Given the description of an element on the screen output the (x, y) to click on. 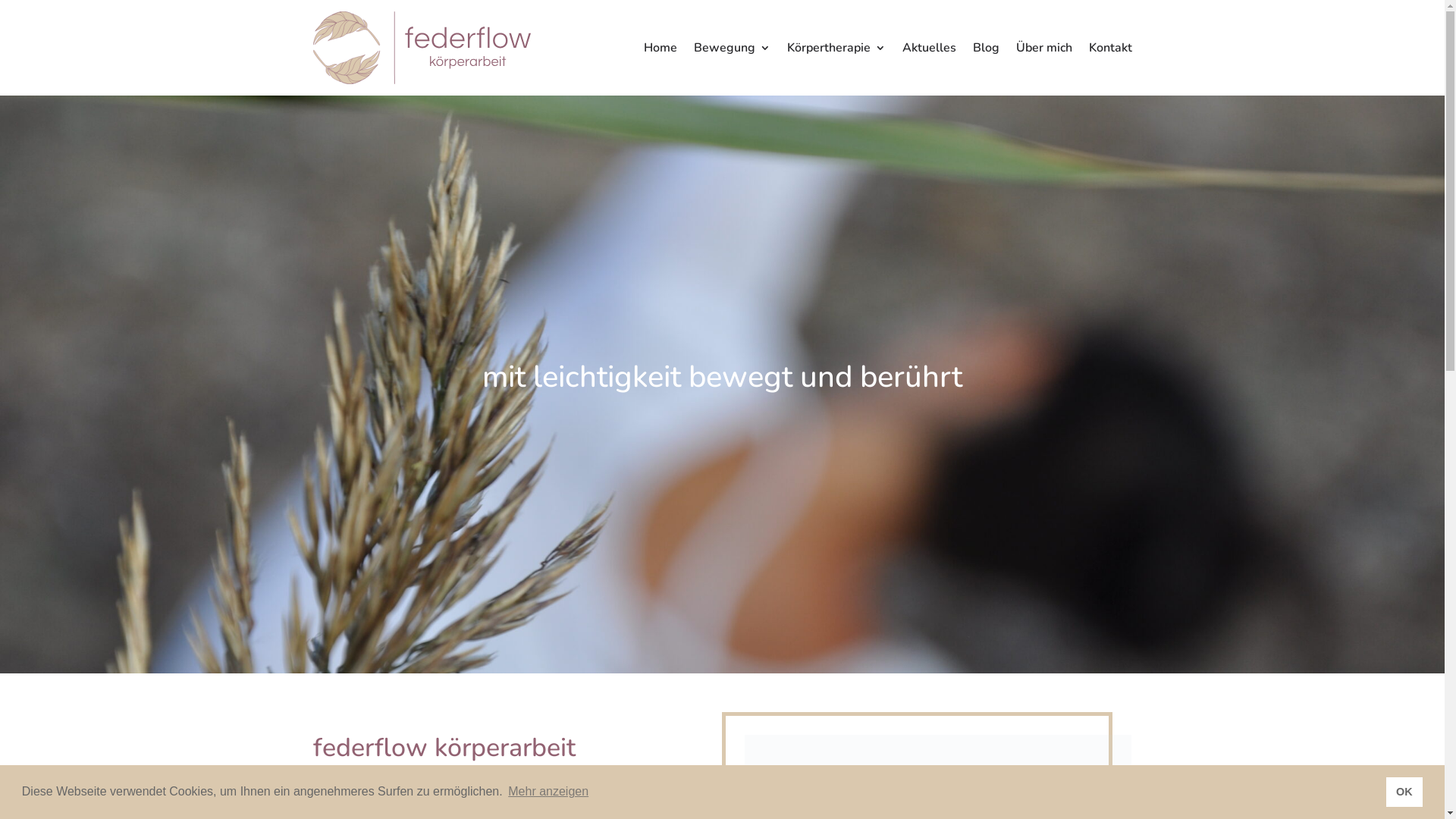
Aktuelles Element type: text (929, 47)
Bewegung Element type: text (731, 47)
OK Element type: text (1404, 791)
Home Element type: text (659, 47)
Kontakt Element type: text (1110, 47)
Blog Element type: text (985, 47)
Mehr anzeigen Element type: text (547, 791)
